Given the description of an element on the screen output the (x, y) to click on. 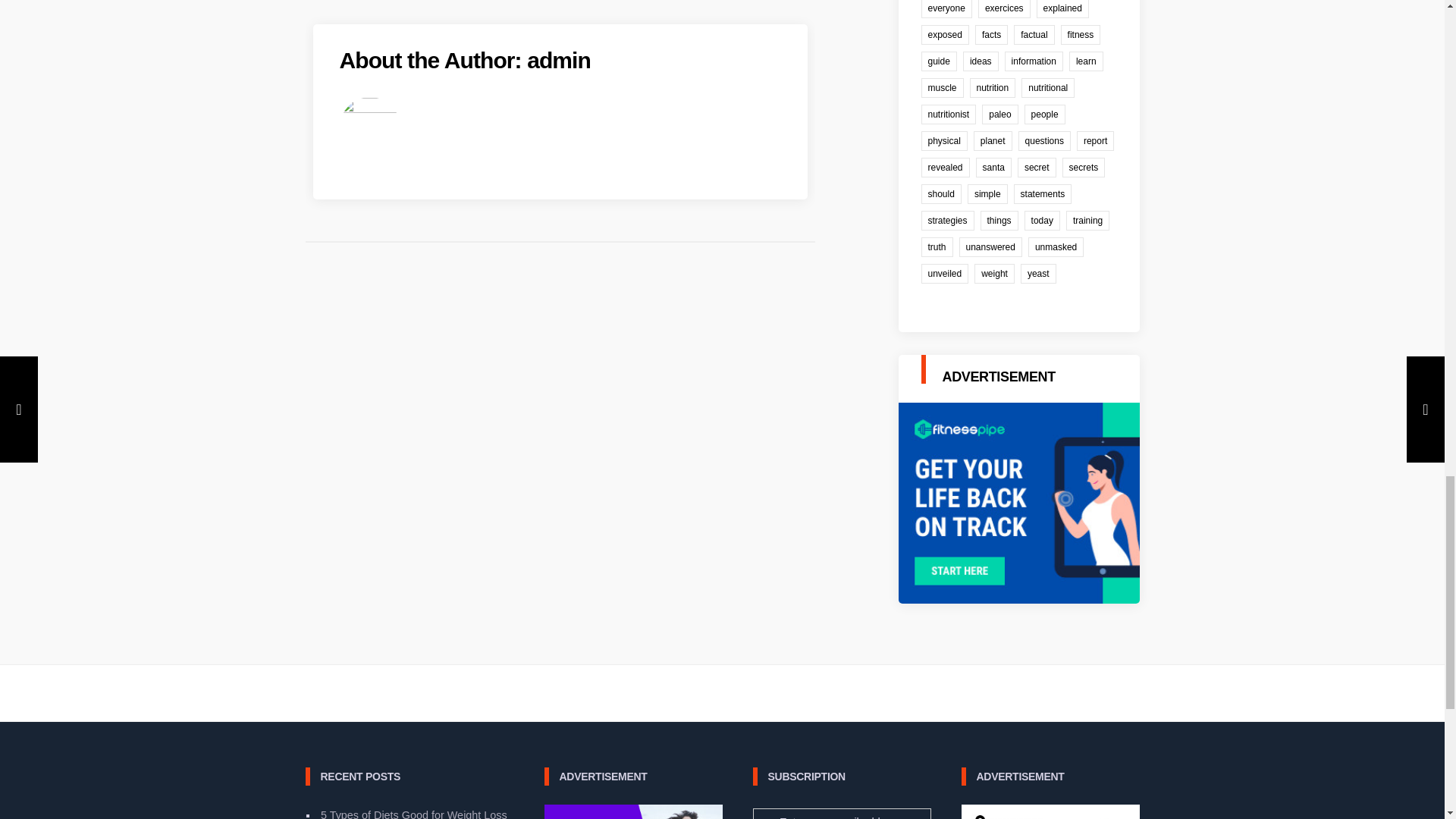
admin (559, 59)
Posts by admin (559, 59)
